Given the description of an element on the screen output the (x, y) to click on. 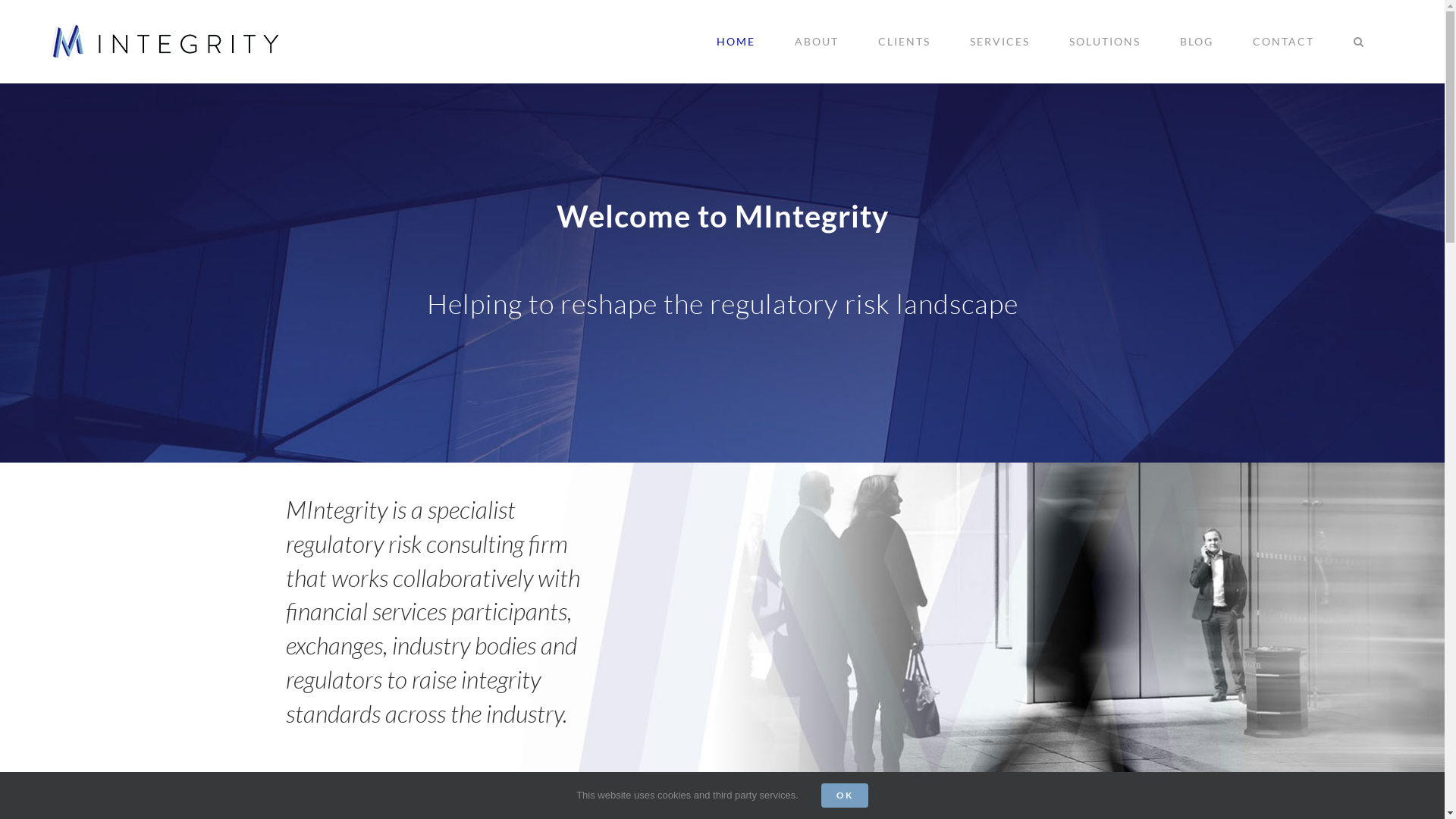
SERVICES Element type: text (999, 41)
Search Element type: hover (1358, 41)
OK Element type: text (844, 795)
CONTACT Element type: text (1283, 41)
ABOUT Element type: text (816, 41)
CLIENTS Element type: text (903, 41)
HOME Element type: text (735, 41)
BLOG Element type: text (1196, 41)
SOLUTIONS Element type: text (1104, 41)
